Given the description of an element on the screen output the (x, y) to click on. 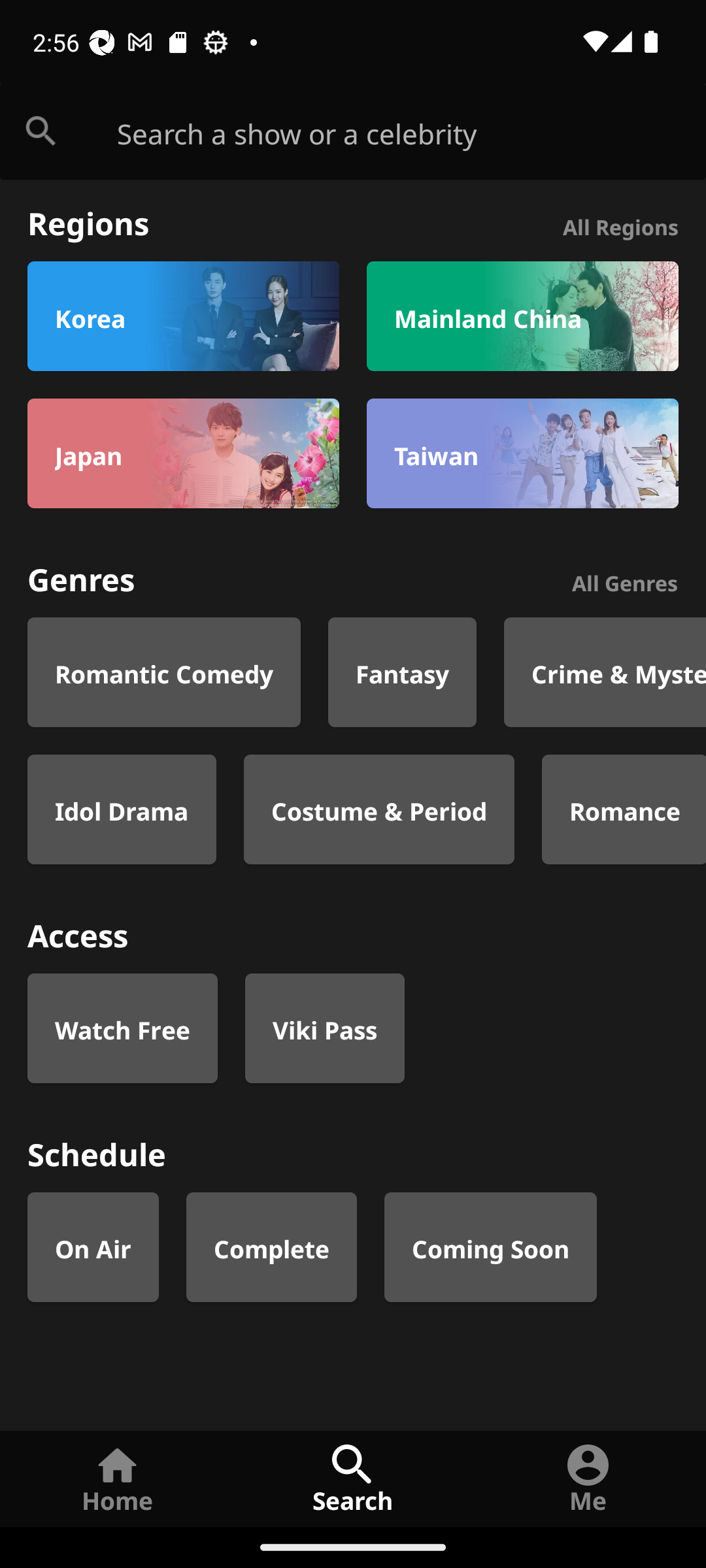
Search a show or a celebrity (411, 131)
All Regions (620, 224)
filter_region_kr Korea (183, 316)
filter_region_cn Mainland China (522, 316)
filter_region_jp Japan (183, 453)
filter_region_tw Taiwan (522, 453)
All Genres (624, 580)
filter_genre_18g Romantic Comedy (163, 672)
filter_genre_19g Fantasy (402, 672)
filter_genre_7g Crime & Mystery (605, 672)
filter_genre_1038g Idol Drama (121, 808)
filter_genre_25g Costume & Period (378, 808)
filter_genre_1068g Romance (624, 808)
filter_access_watch_free Watch Free (122, 1028)
filter_access_vikipass Viki Pass (324, 1028)
filter_schedule_on_air On Air (92, 1246)
filter_schedule_complete Complete (271, 1246)
filter_schedule_coming_soon Coming Soon (490, 1246)
Home (117, 1478)
Me (588, 1478)
